Given the description of an element on the screen output the (x, y) to click on. 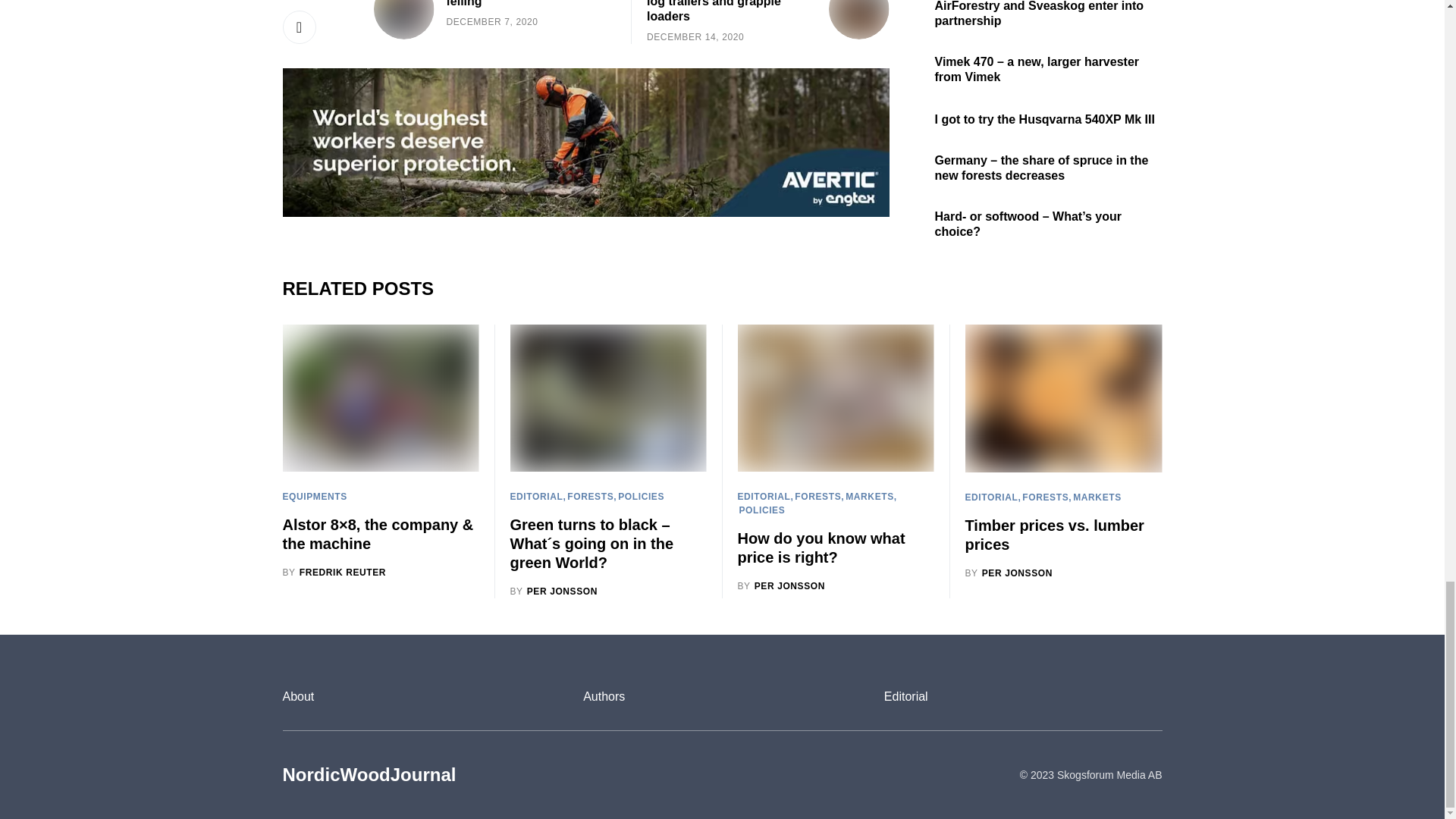
View all posts by Fredrik Reuter (333, 572)
View all posts by Per Jonsson (1007, 572)
View all posts by Per Jonsson (552, 591)
View all posts by Per Jonsson (780, 585)
